Given the description of an element on the screen output the (x, y) to click on. 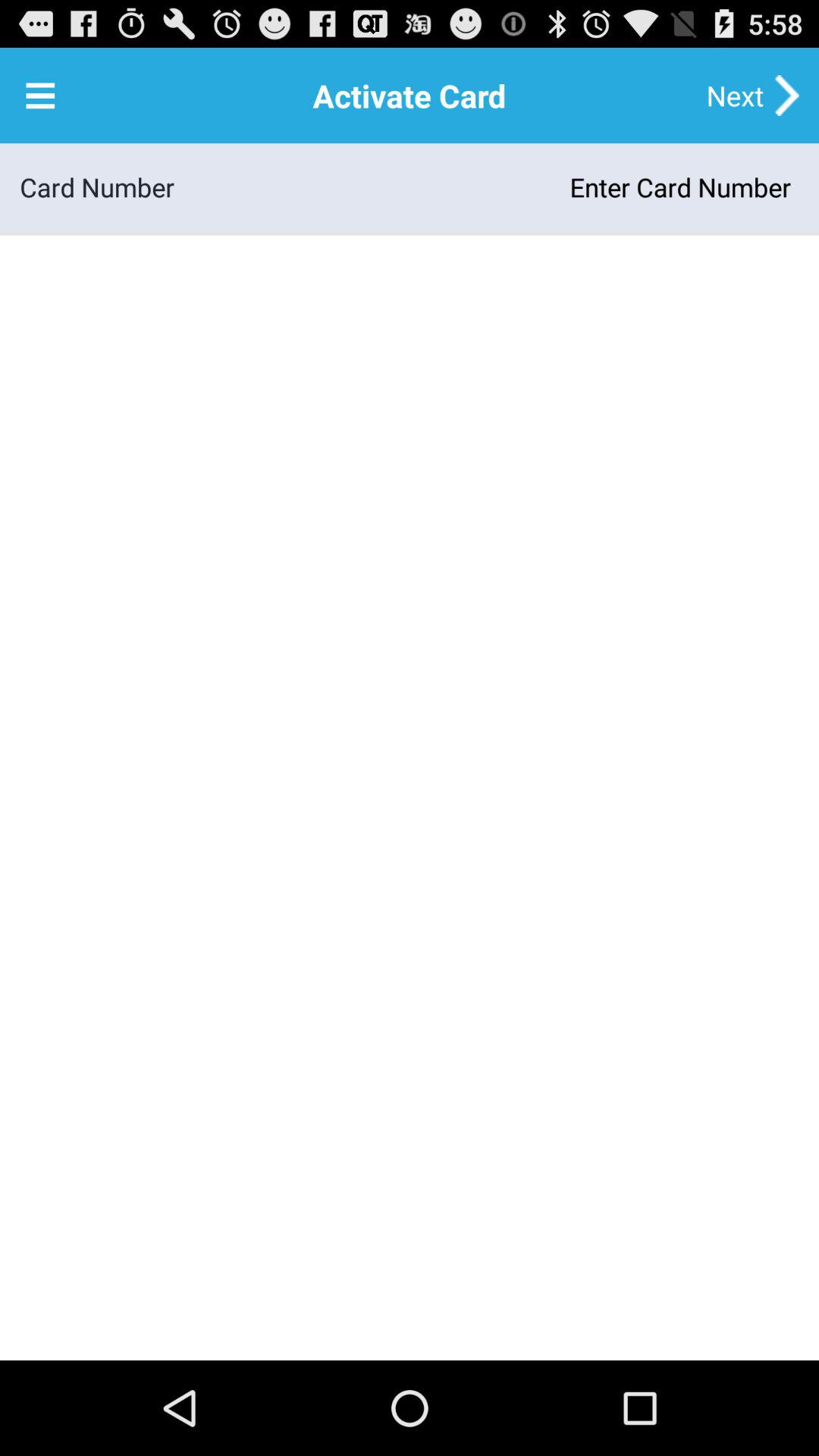
scroll to the next item (735, 95)
